Given the description of an element on the screen output the (x, y) to click on. 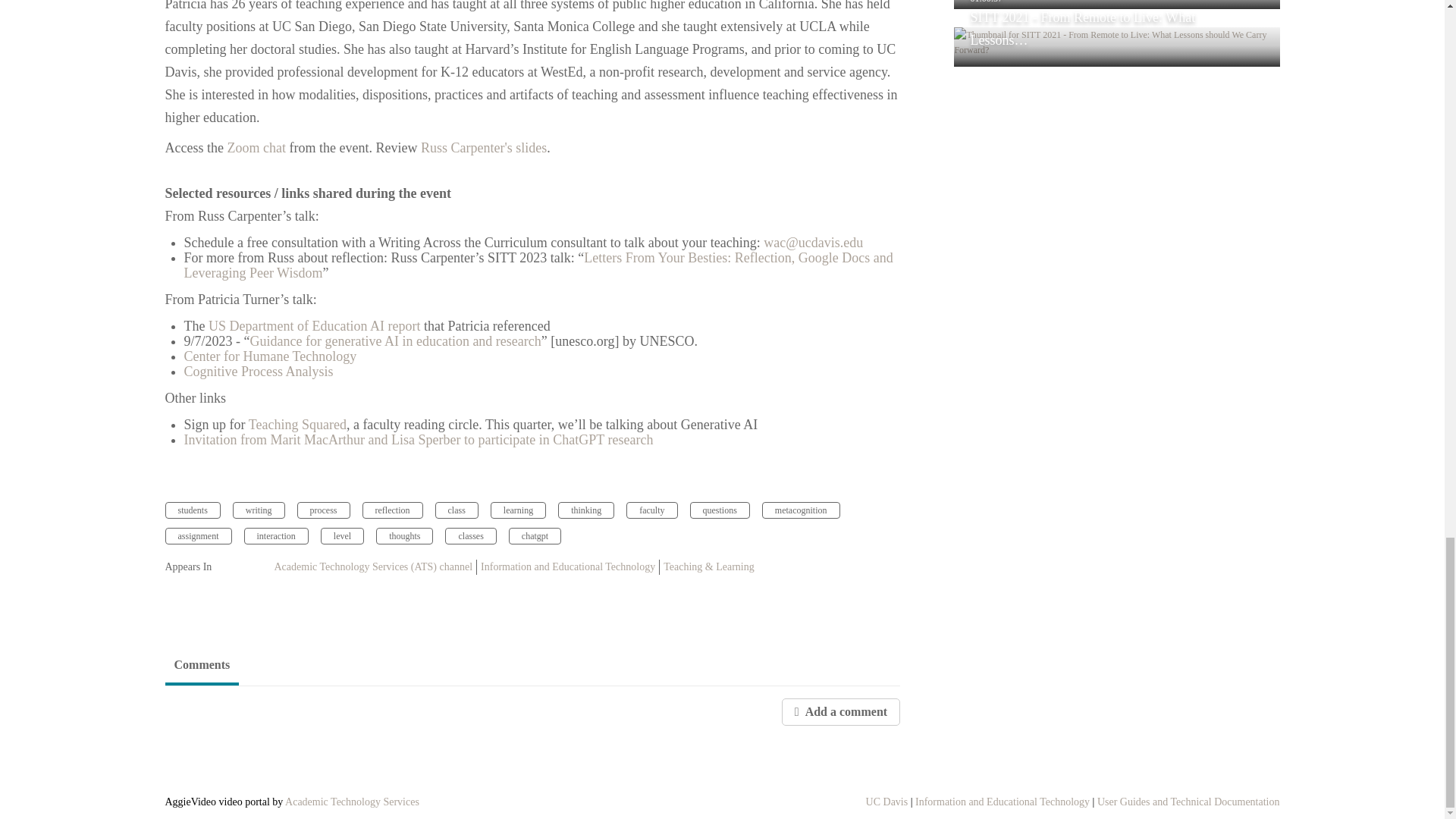
Visit the Academic Technology Services homepage (352, 801)
Appears In (210, 566)
Visit the Information and Educational Technology homepage (1002, 801)
Visit UCDavis.edu (887, 801)
